Given the description of an element on the screen output the (x, y) to click on. 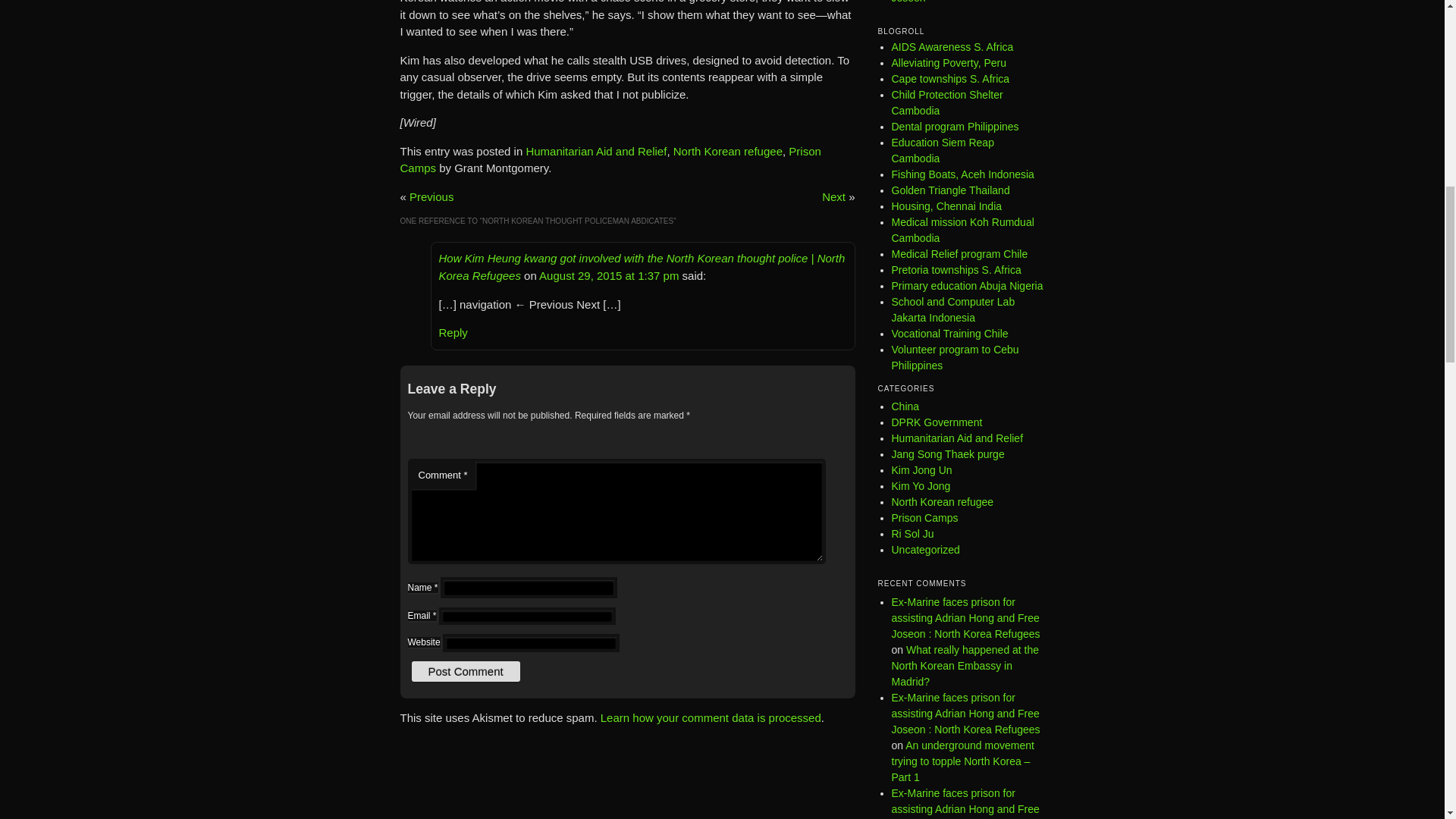
Prison Camps (610, 159)
Post Comment (464, 670)
Education Siem Reap Cambodia (942, 150)
Learn how your comment data is processed (710, 717)
Fishing Boats, Aceh Indonesia (962, 174)
Dental program Philippines (955, 126)
Golden Triangle Thailand (950, 190)
Humanitarian Aid and Relief (595, 151)
Housing, Chennai India (947, 205)
Previous (430, 196)
